Given the description of an element on the screen output the (x, y) to click on. 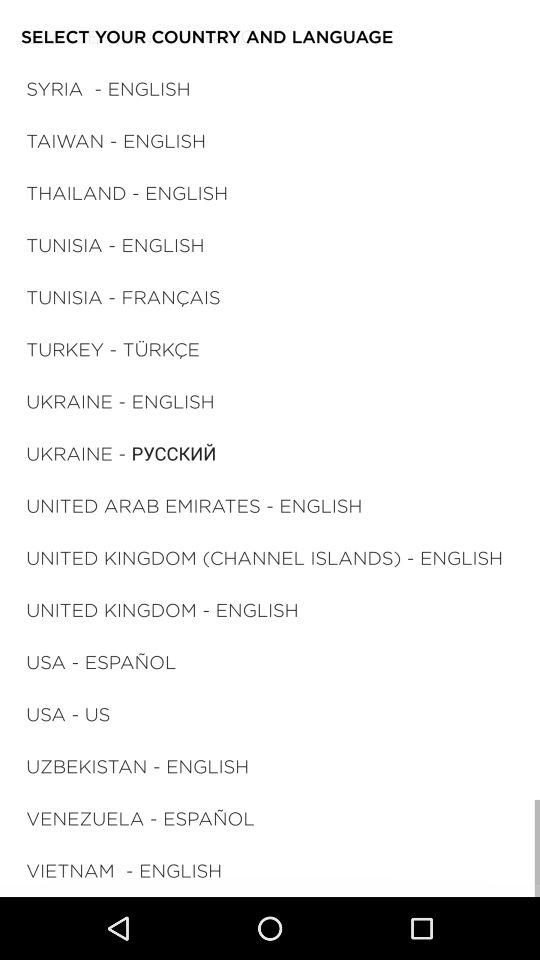
open the united arab emirates (194, 505)
